Given the description of an element on the screen output the (x, y) to click on. 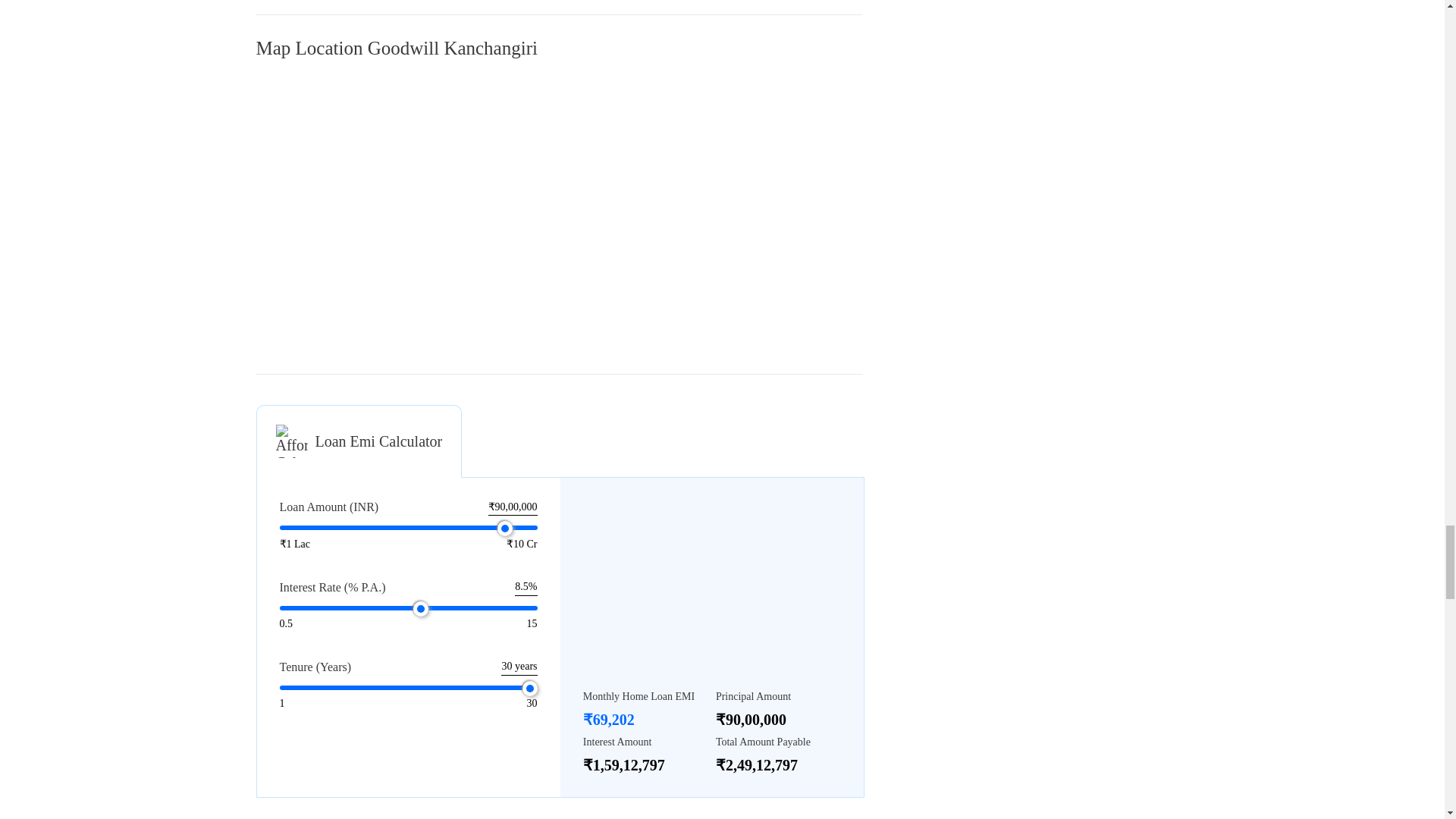
8.5 (408, 608)
30 (408, 687)
9000000 (408, 527)
